Given the description of an element on the screen output the (x, y) to click on. 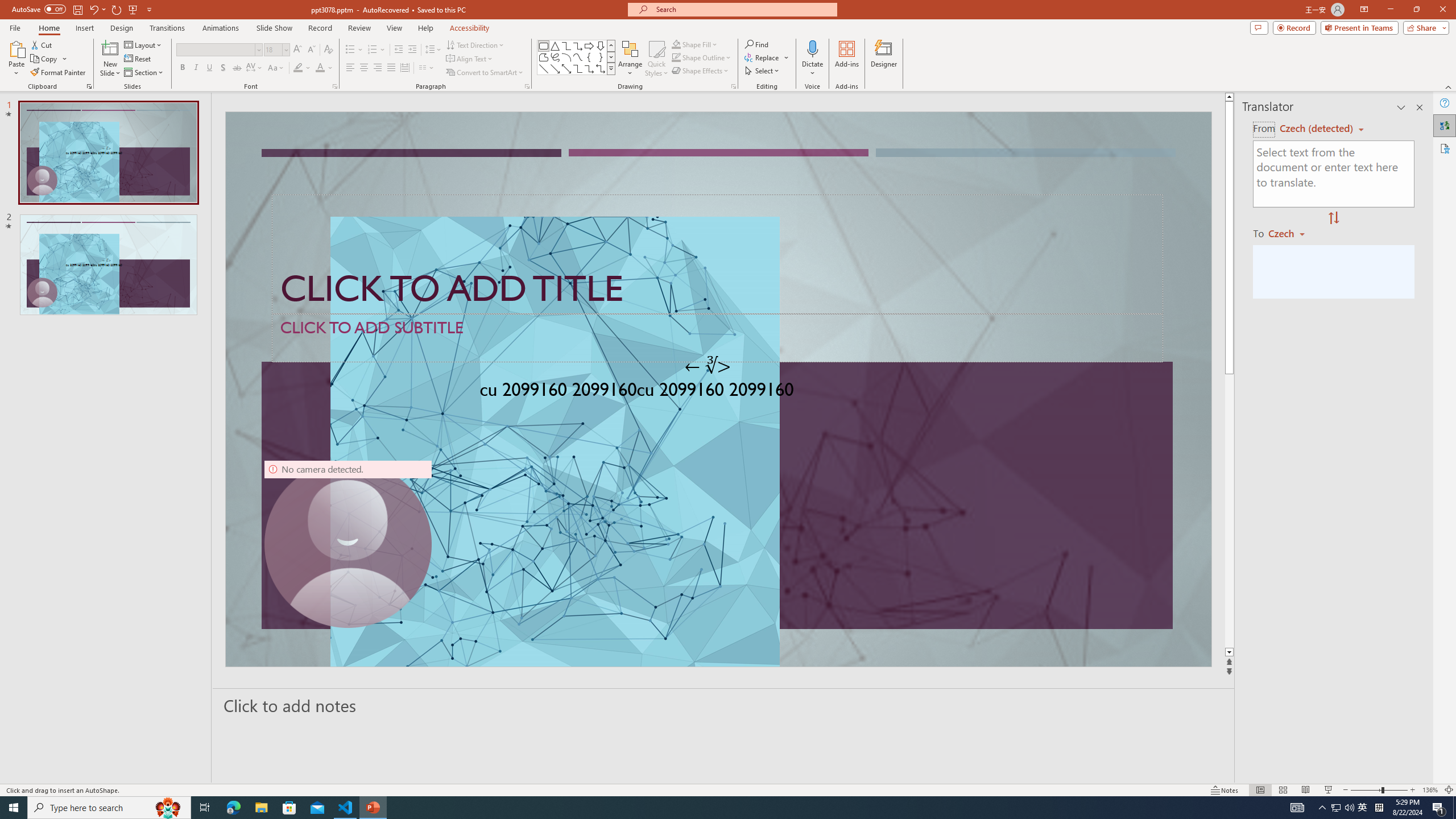
TextBox 61 (716, 391)
